Given the description of an element on the screen output the (x, y) to click on. 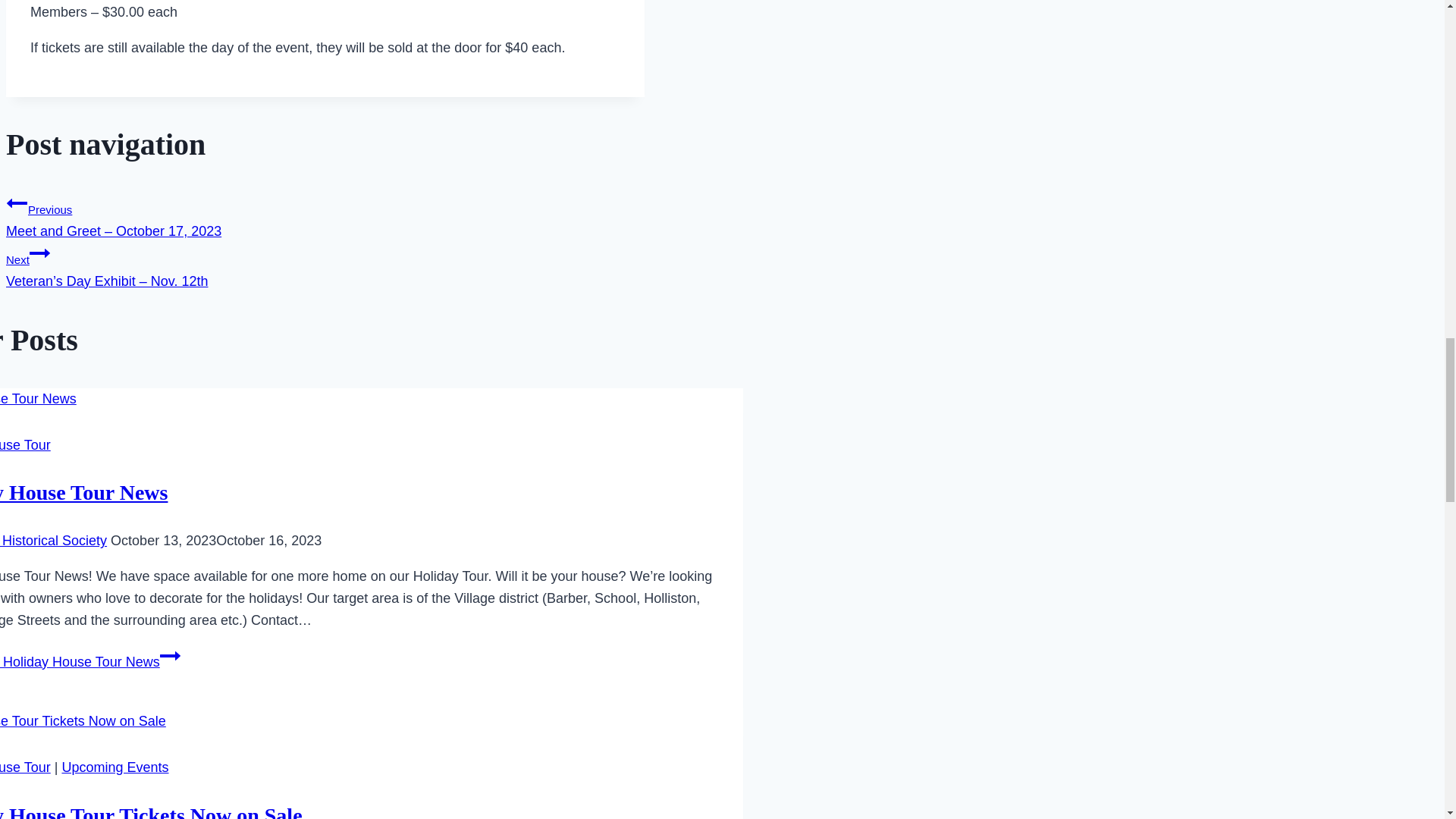
Medway Historical Society (53, 540)
Continue (170, 655)
Holiday House Tour (25, 767)
Holiday House Tour (25, 444)
Read More Holiday House Tour NewsContinue (90, 661)
Holiday House Tour News (83, 492)
Holiday House Tour Tickets Now on Sale (151, 811)
Continue (39, 252)
Previous (16, 202)
Upcoming Events (114, 767)
